Given the description of an element on the screen output the (x, y) to click on. 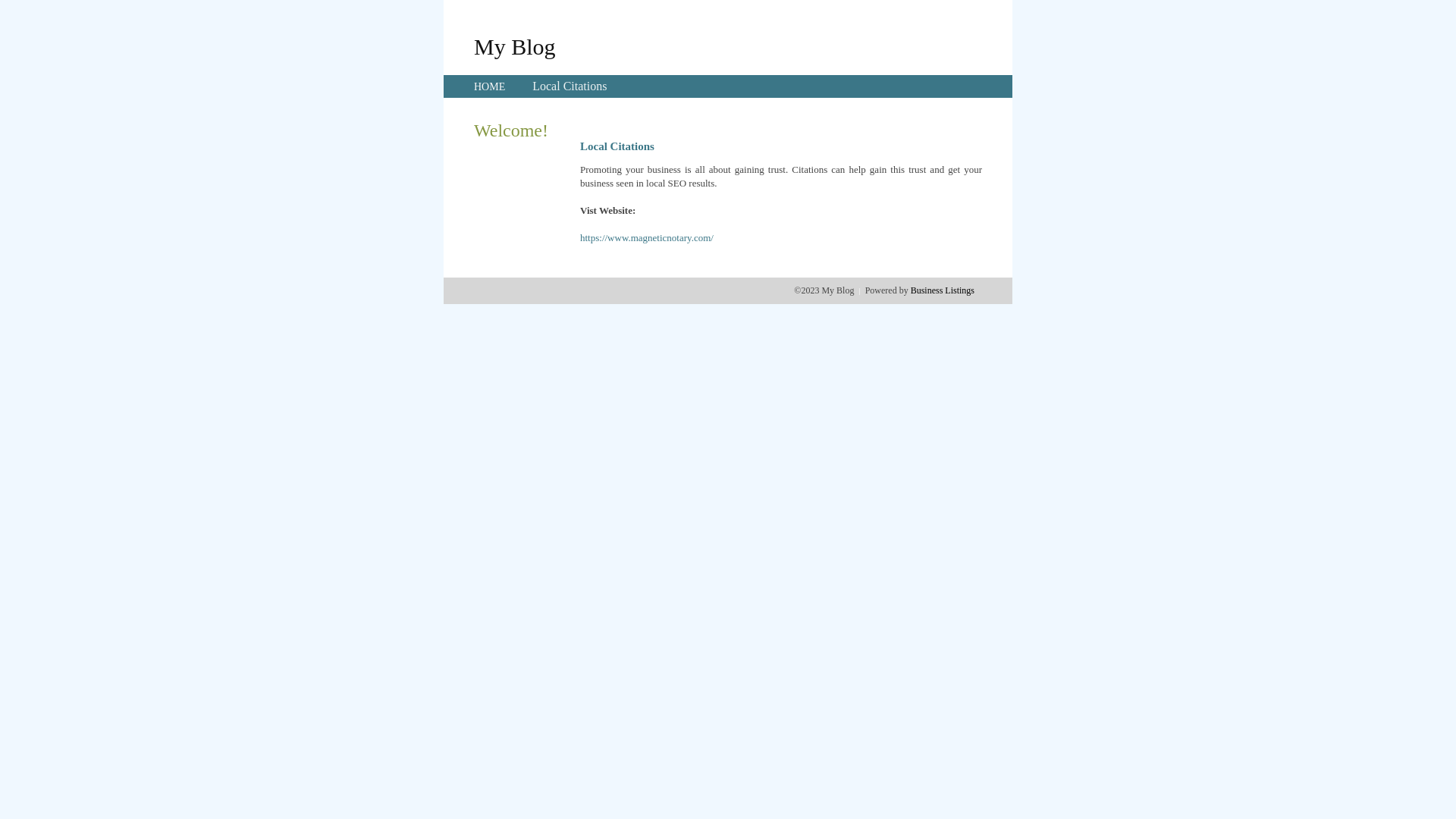
Business Listings Element type: text (942, 290)
My Blog Element type: text (514, 46)
https://www.magneticnotary.com/ Element type: text (646, 237)
HOME Element type: text (489, 86)
Local Citations Element type: text (569, 85)
